Given the description of an element on the screen output the (x, y) to click on. 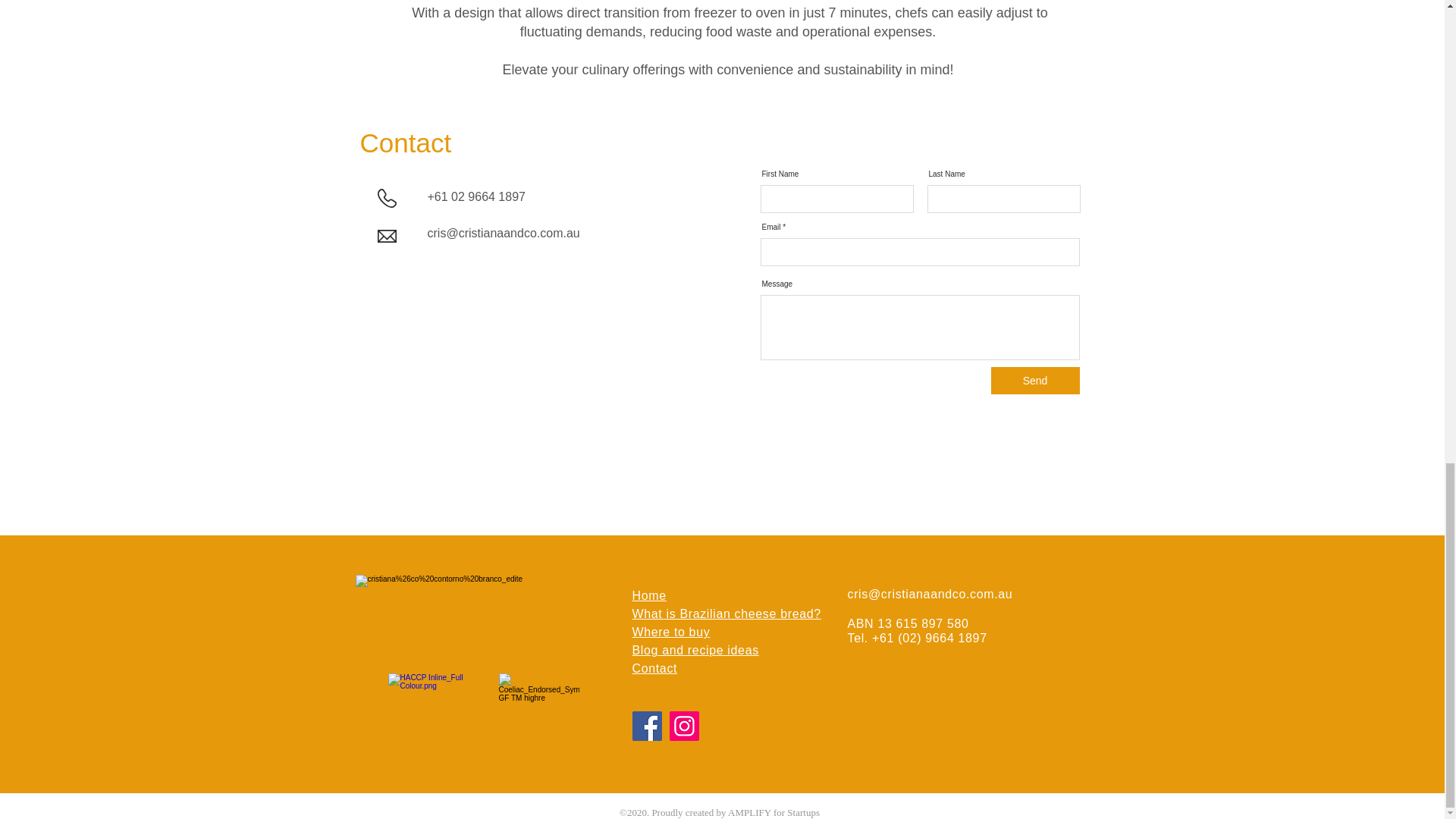
Where to buy (670, 631)
Contact (654, 667)
Send (1034, 379)
Blog and recipe ideas (694, 649)
Home (648, 594)
What is Brazilian cheese bread? (726, 613)
